Given the description of an element on the screen output the (x, y) to click on. 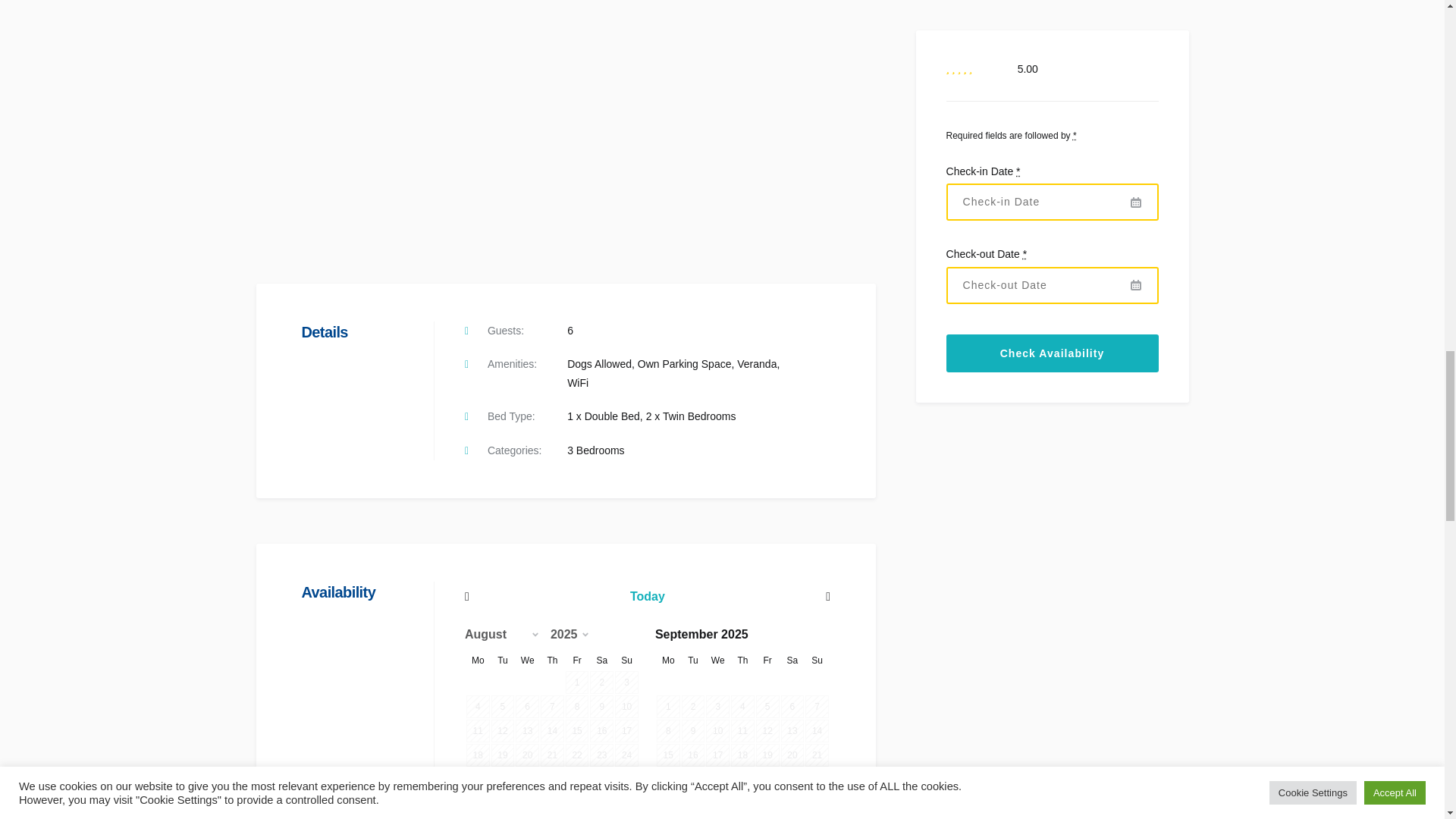
Saturday (600, 660)
Tuesday (503, 660)
Monday (477, 660)
Show today's month (647, 596)
Show a different year (574, 634)
Show the previous month (519, 596)
Wednesday (526, 660)
Sunday (626, 660)
Show the next month (577, 681)
